Given the description of an element on the screen output the (x, y) to click on. 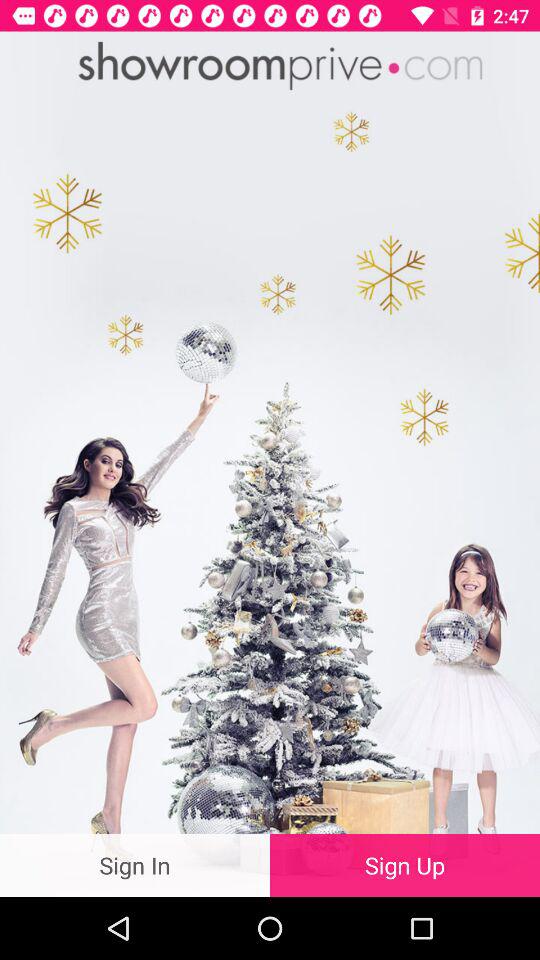
choose icon next to the sign up item (135, 864)
